Given the description of an element on the screen output the (x, y) to click on. 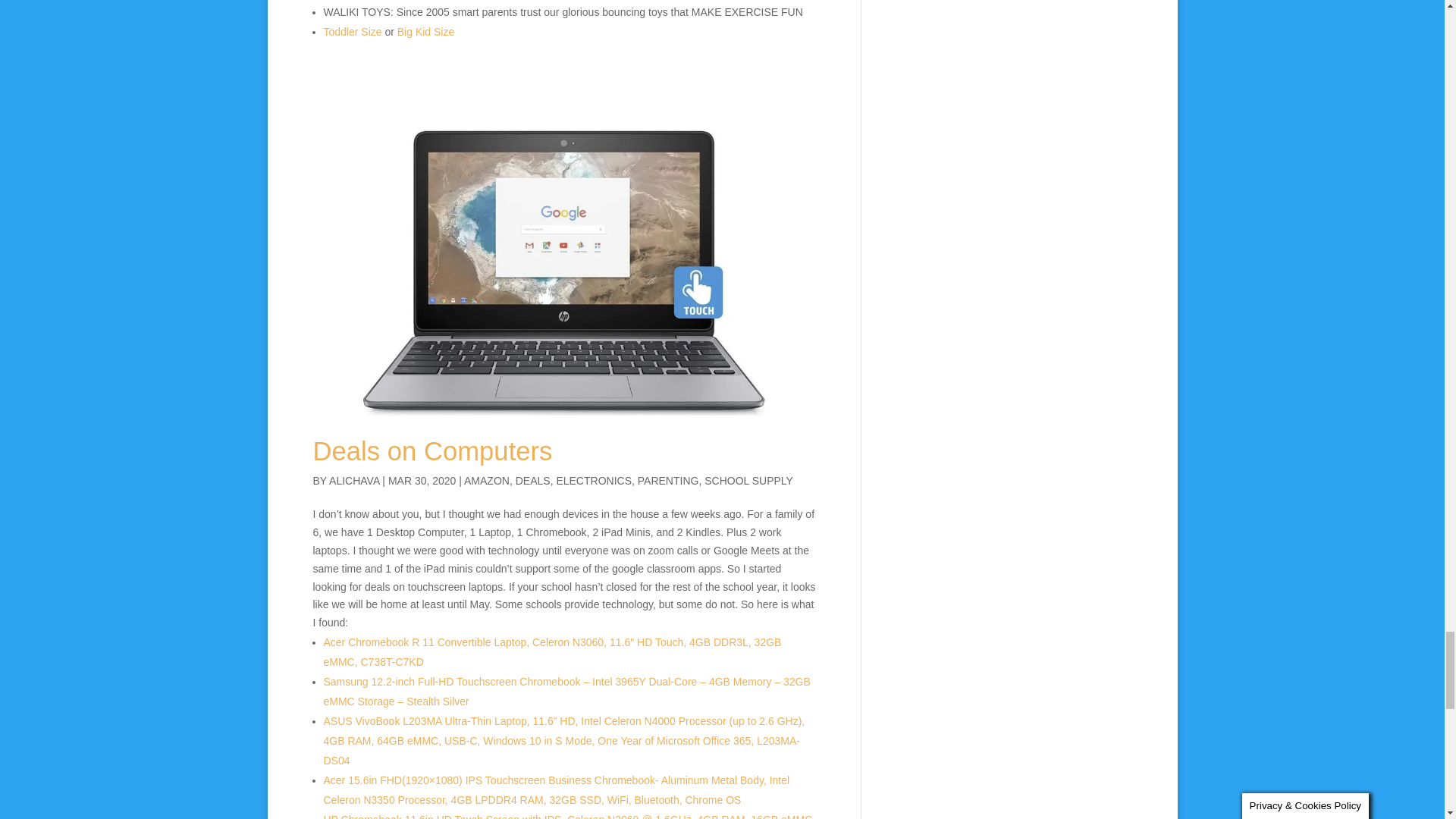
Posts by alichava (353, 480)
